Given the description of an element on the screen output the (x, y) to click on. 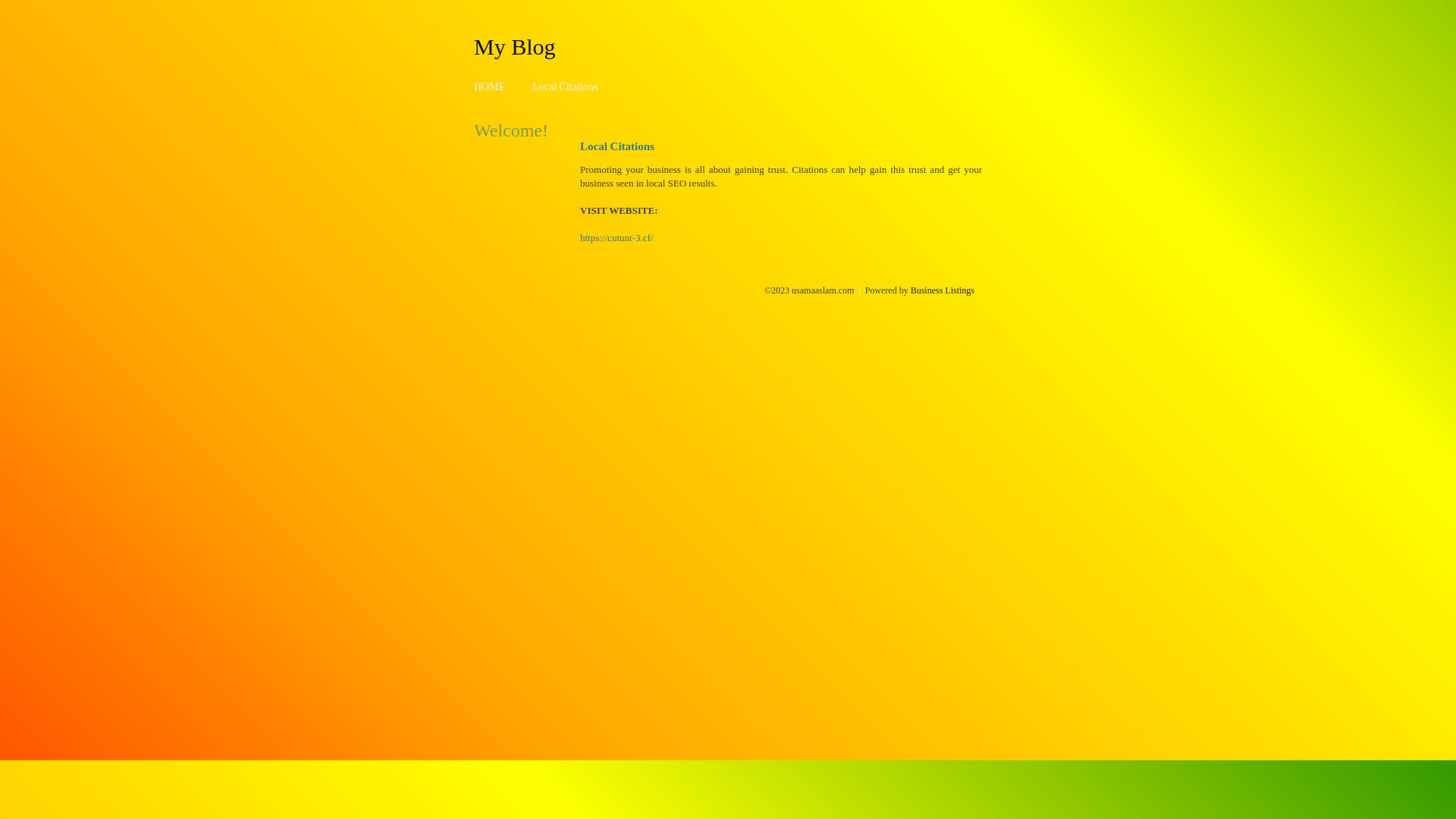
HOME Element type: text (489, 86)
https://cutunt-3.cf/ Element type: text (616, 237)
Local Citations Element type: text (564, 86)
Business Listings Element type: text (942, 290)
My Blog Element type: text (514, 46)
